Given the description of an element on the screen output the (x, y) to click on. 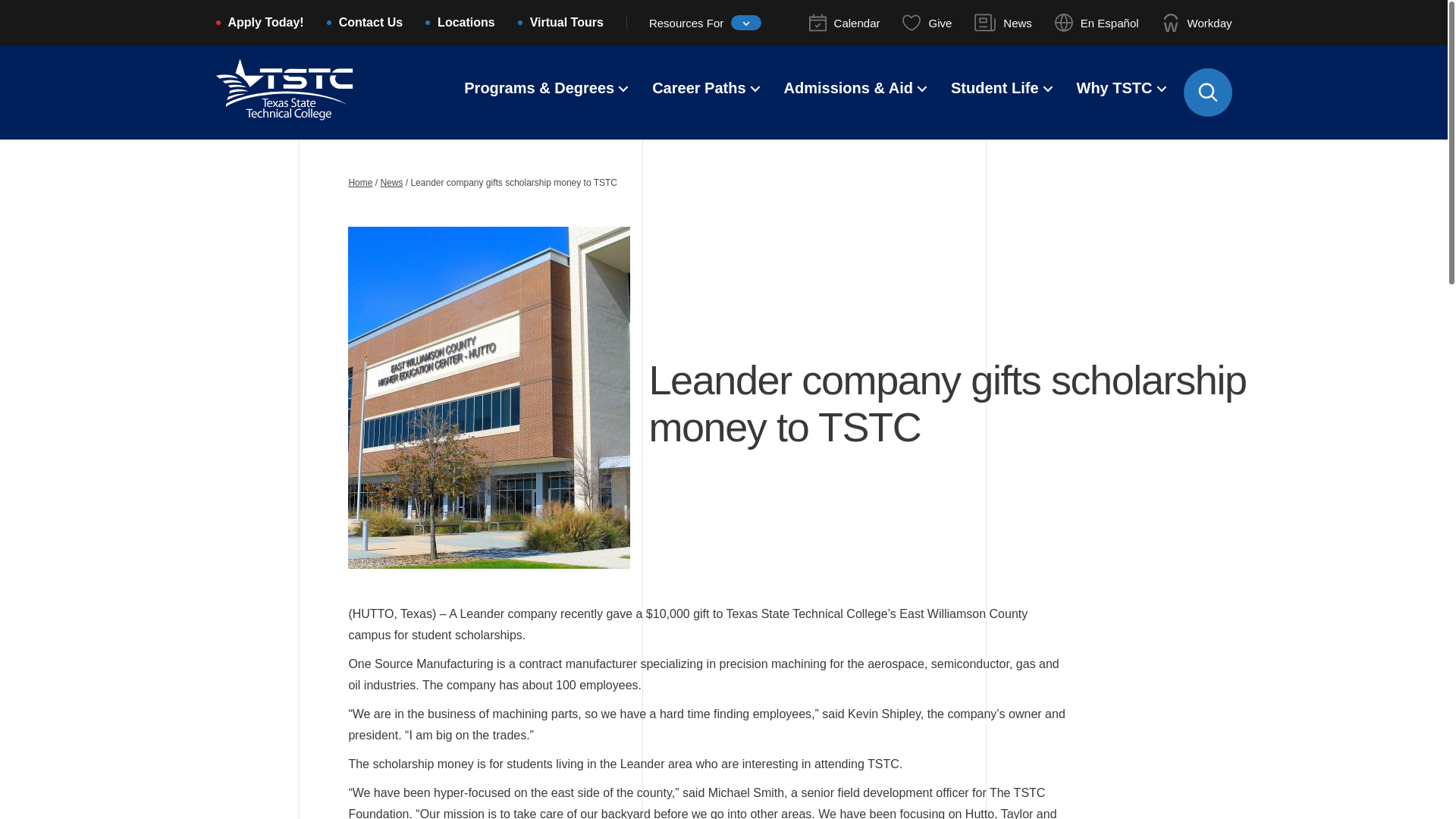
Career Paths (698, 89)
Apply Today! (264, 23)
News (1003, 22)
Student Life (994, 89)
Calendar (844, 22)
Give (927, 22)
Contact Us (371, 23)
Virtual Tours (566, 23)
Workday (1196, 22)
Locations (466, 23)
